Given the description of an element on the screen output the (x, y) to click on. 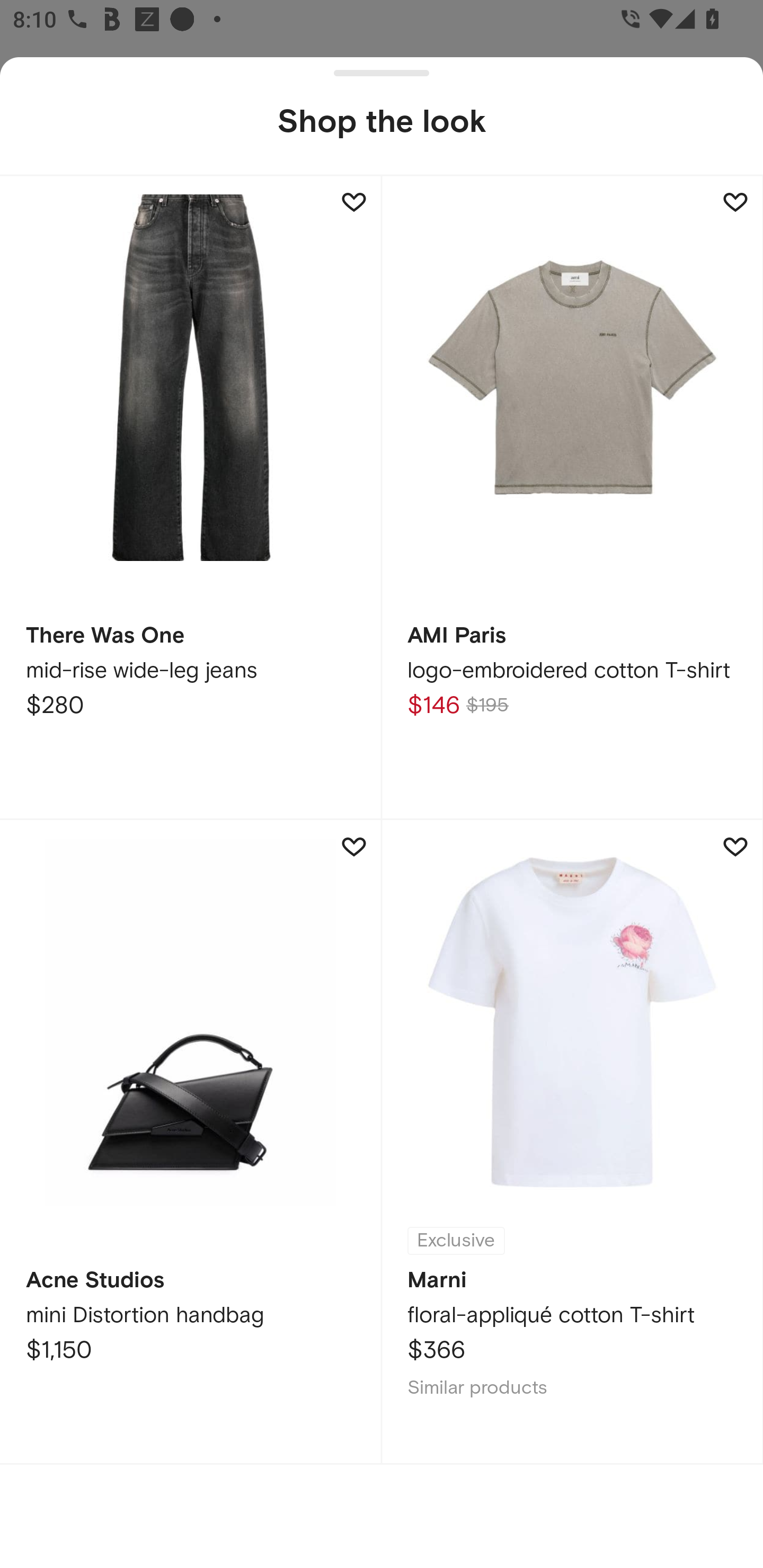
There Was One mid-rise wide-leg jeans $280 (190, 496)
Acne Studios mini Distortion handbag $1,150 (190, 1141)
